Given the description of an element on the screen output the (x, y) to click on. 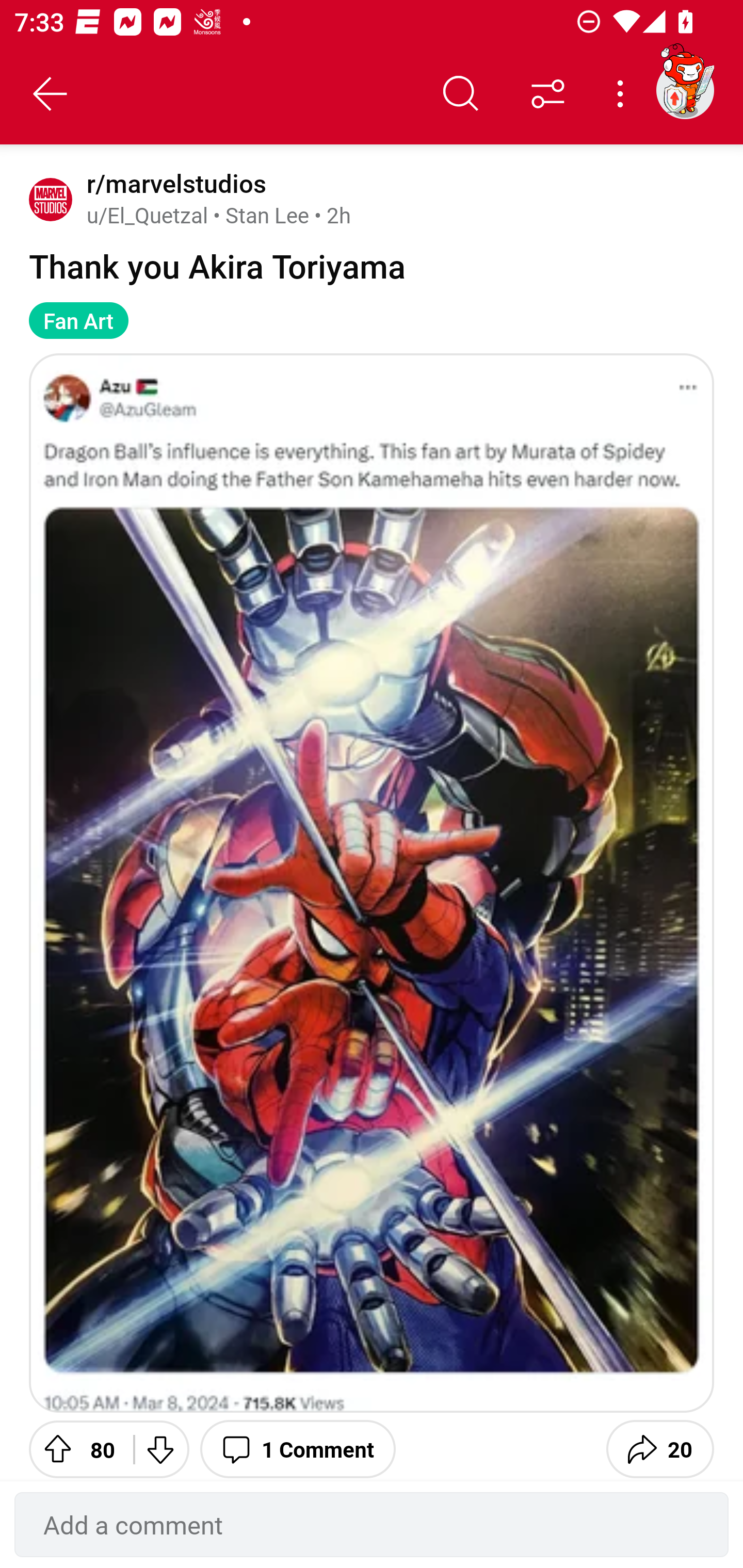
Back (50, 93)
TestAppium002 account (685, 90)
Search comments (460, 93)
Sort comments (547, 93)
More options (623, 93)
r/marvelstudios (173, 183)
Avatar (50, 199)
Fan Art (78, 320)
Image (371, 882)
Upvote 80 (73, 1446)
Downvote (158, 1446)
1 Comment (297, 1446)
Share 20 (660, 1446)
Add a comment (371, 1524)
